Given the description of an element on the screen output the (x, y) to click on. 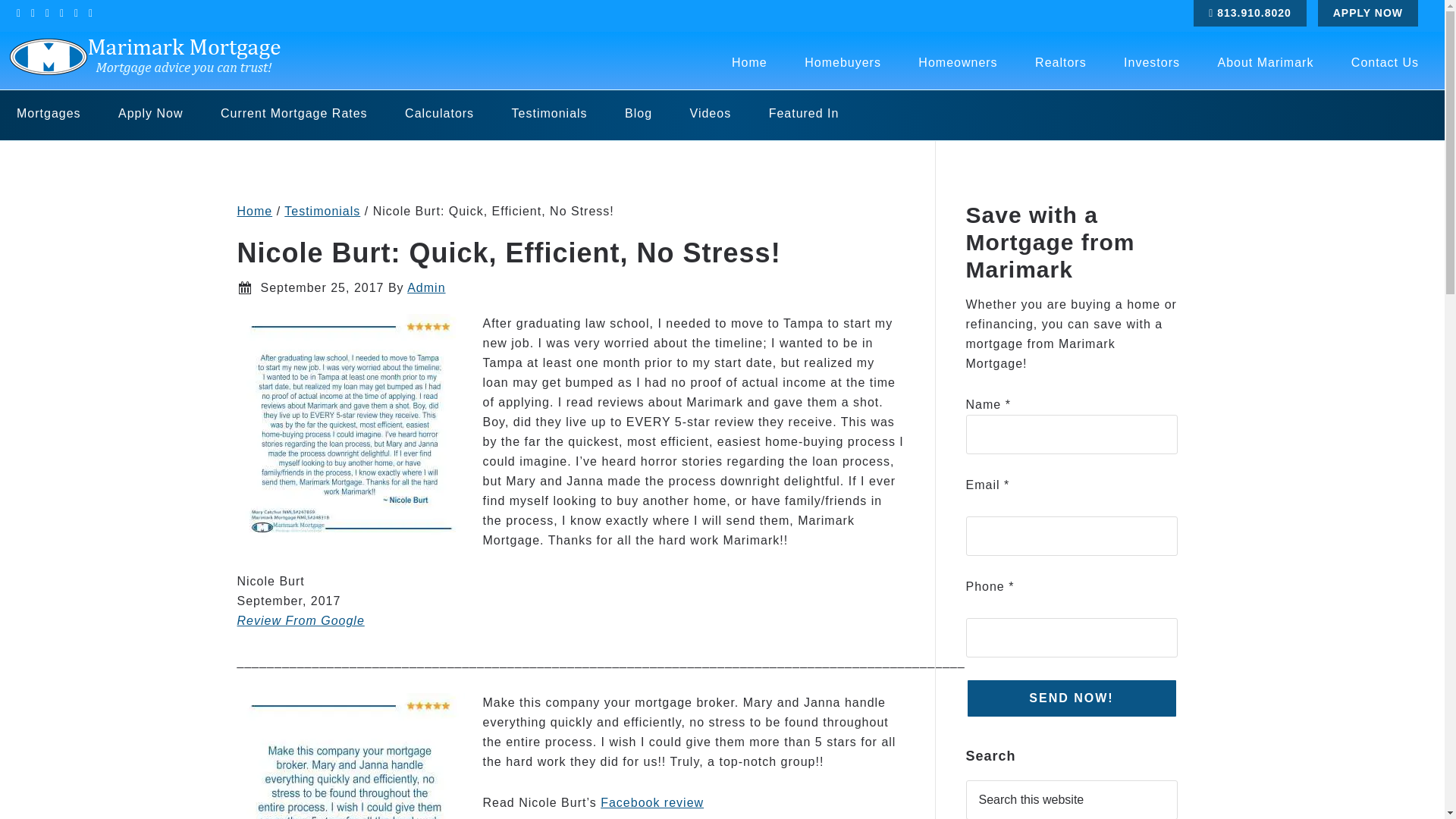
Contact Us (1385, 62)
Blog (638, 113)
Testimonials (321, 210)
Send Now! (1071, 698)
Mortgages (48, 113)
Admin (426, 287)
Current Mortgage Rates (293, 113)
Homebuyers (842, 62)
About Marimark (1264, 62)
